Given the description of an element on the screen output the (x, y) to click on. 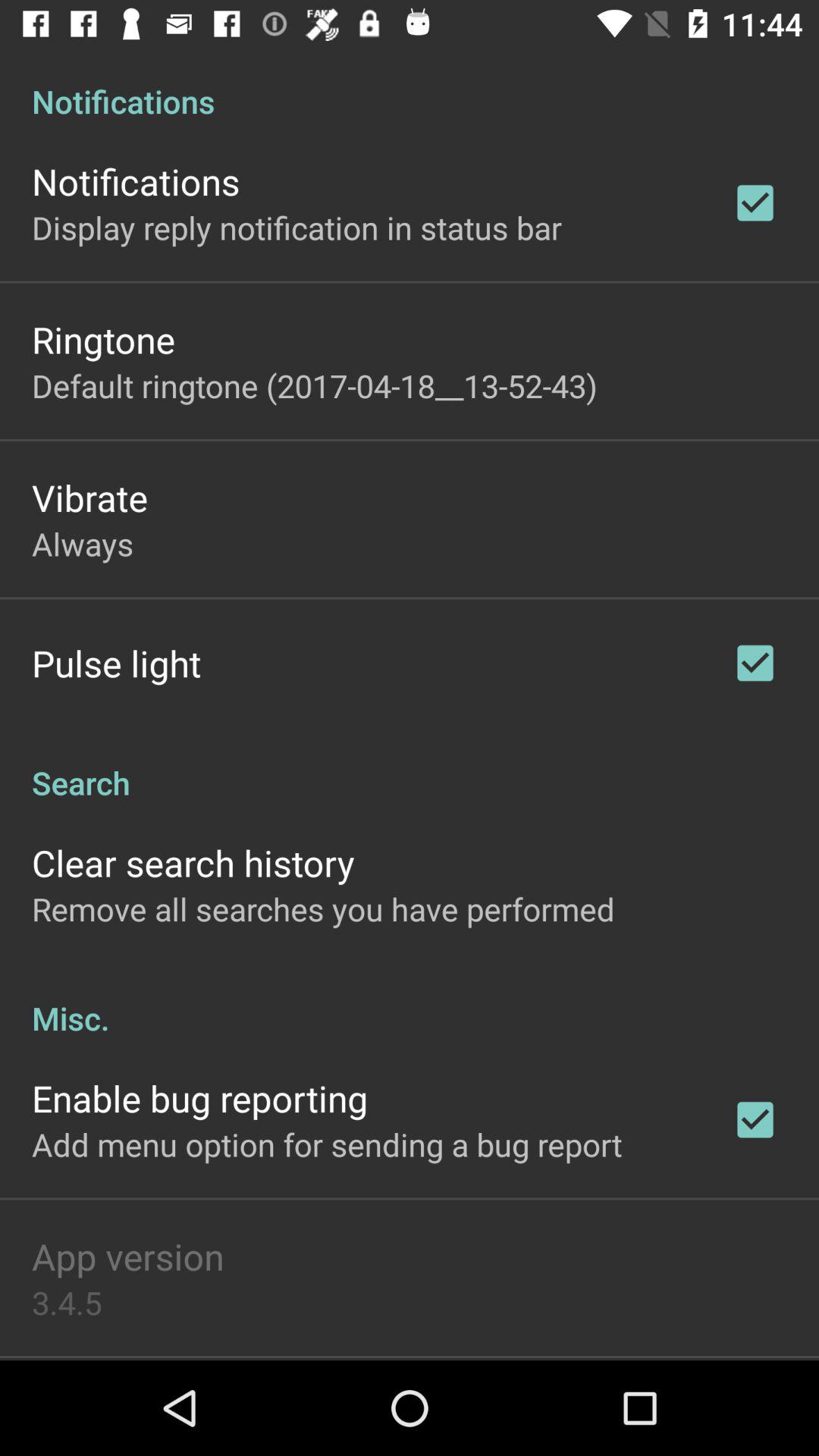
launch the icon below ringtone item (314, 385)
